Given the description of an element on the screen output the (x, y) to click on. 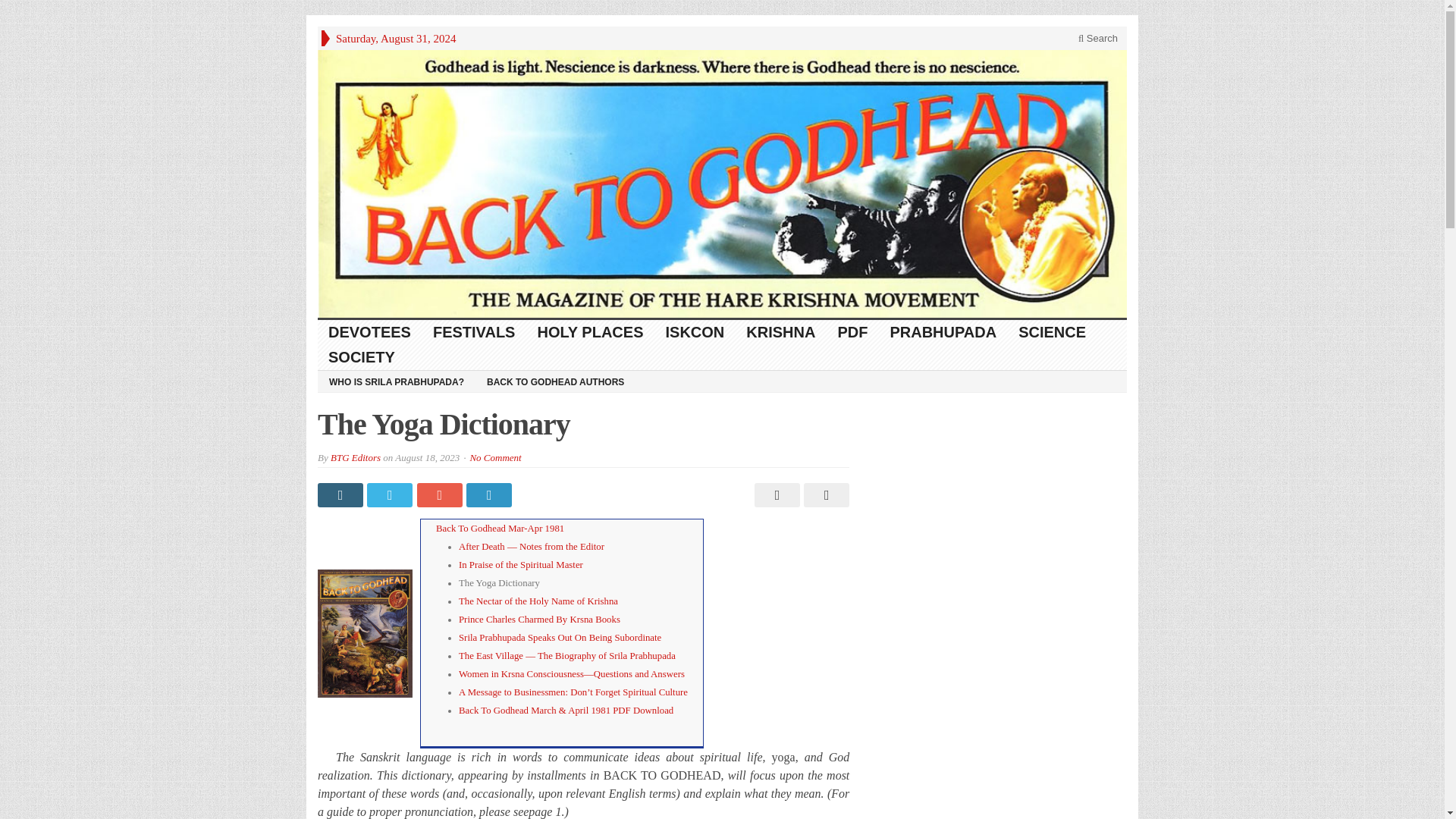
ISKCON (695, 332)
Share on Facebook (341, 494)
Back To Godhead Mar-Apr 1981 (499, 528)
The Nectar of the Holy Name of Krishna (537, 601)
Srila Prabhupada Speaks Out On Being Subordinate (559, 637)
DEVOTEES (369, 332)
FESTIVALS (474, 332)
Send by Email (823, 494)
KRISHNA (781, 332)
In Praise of the Spiritual Master (520, 564)
